Given the description of an element on the screen output the (x, y) to click on. 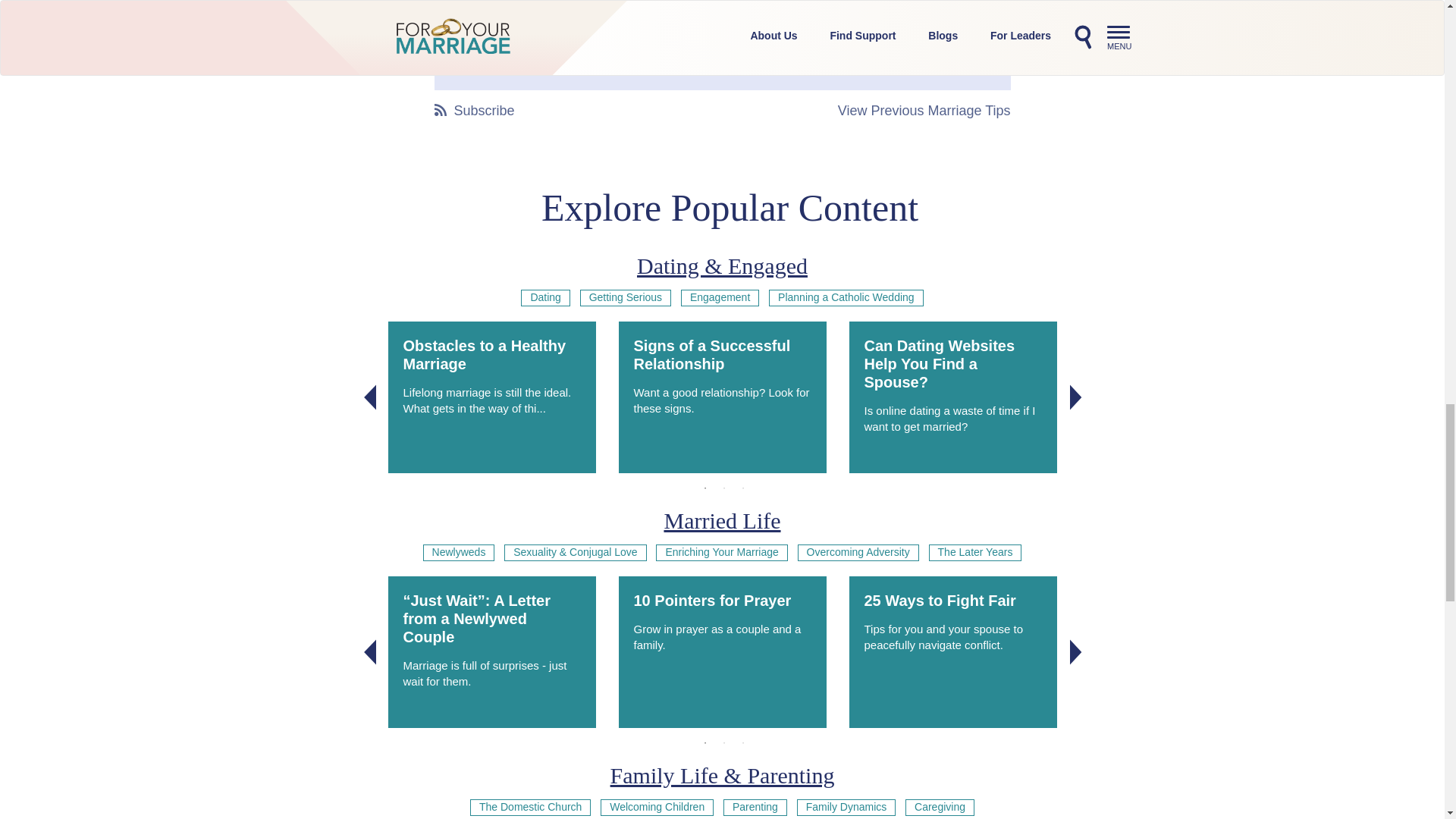
Subscribe (473, 110)
